Given the description of an element on the screen output the (x, y) to click on. 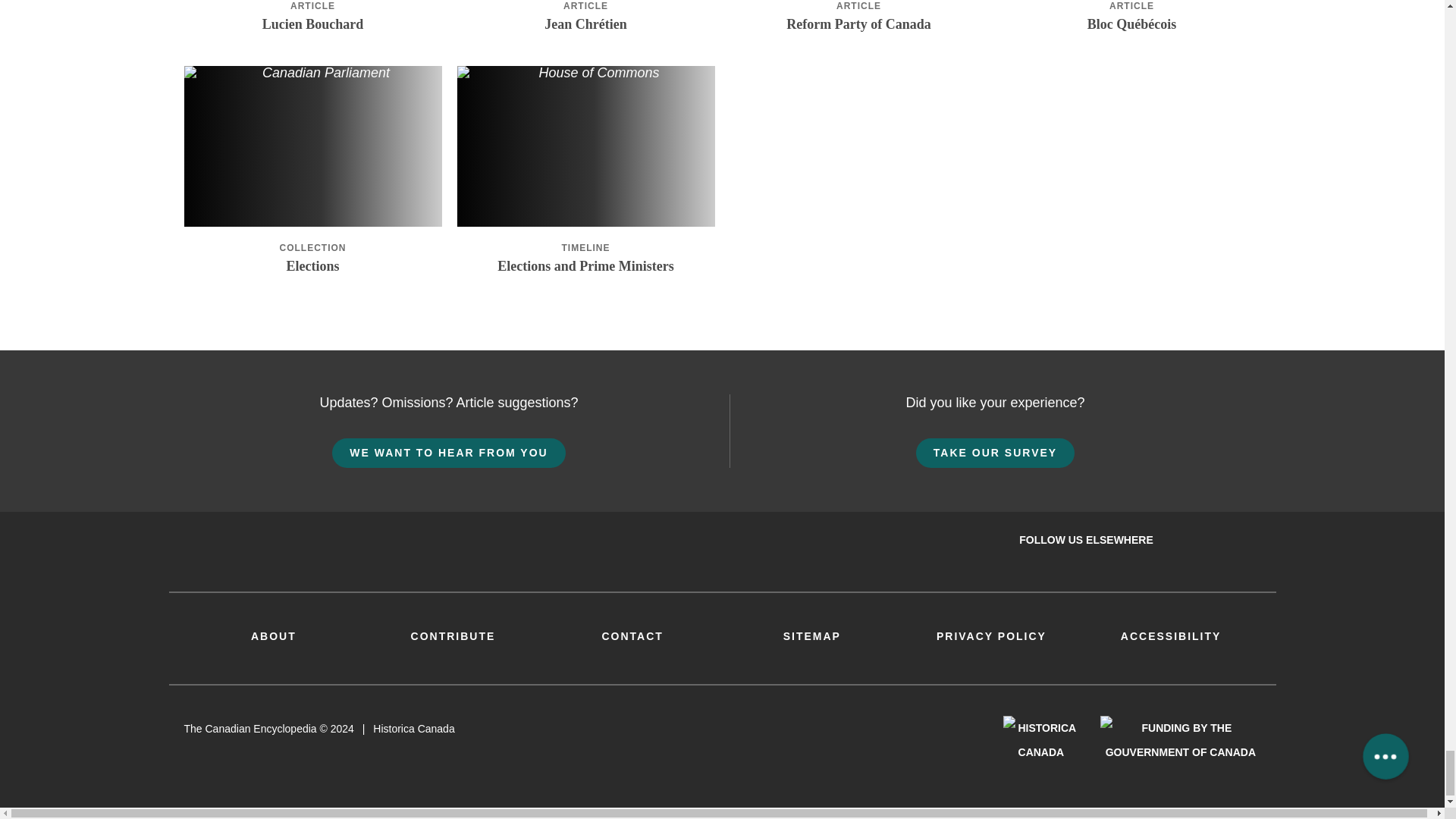
Historica Canada (1040, 739)
Funding by the gouvernment of Canada (1180, 739)
